Given the description of an element on the screen output the (x, y) to click on. 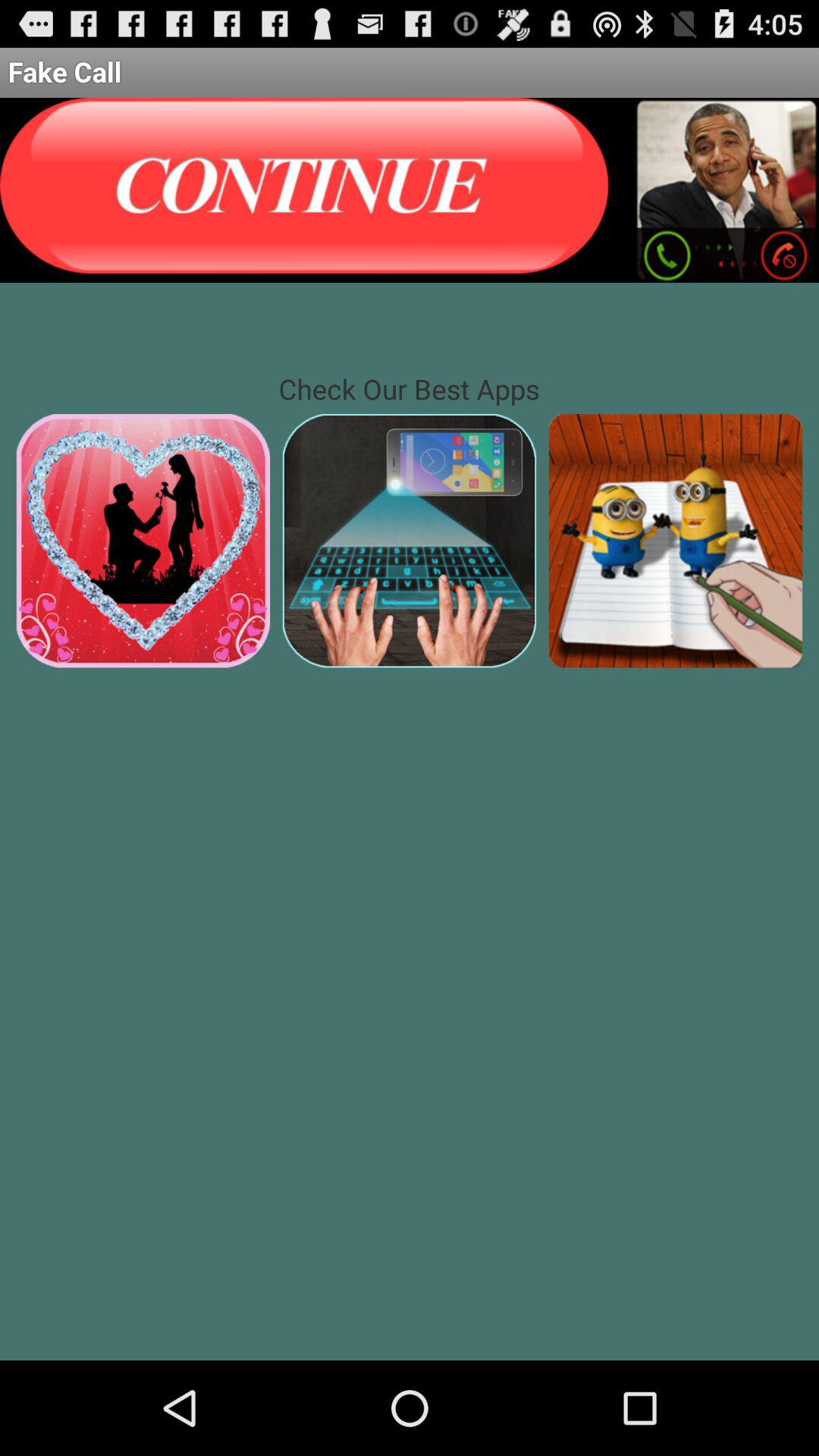
switch to play store app (409, 540)
